Given the description of an element on the screen output the (x, y) to click on. 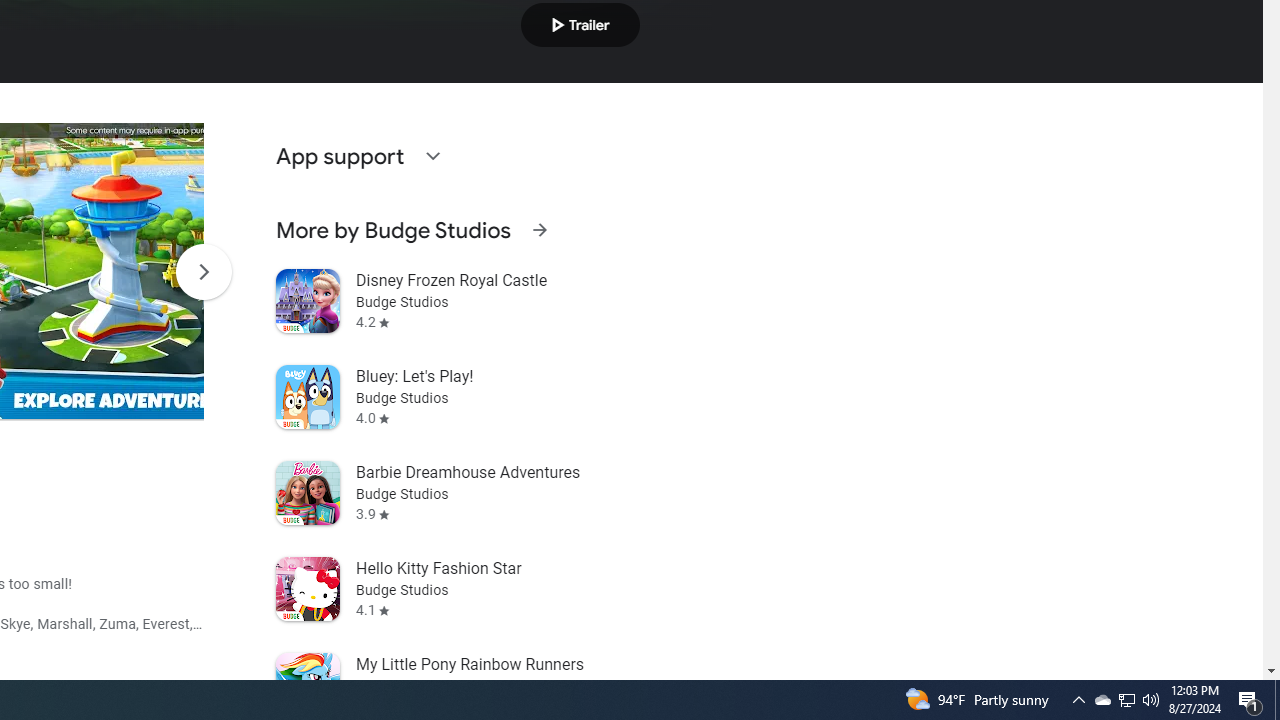
See more information on More by Budge Studios (539, 229)
Expand (432, 155)
Play trailer (580, 24)
Scroll Next (203, 272)
